Given the description of an element on the screen output the (x, y) to click on. 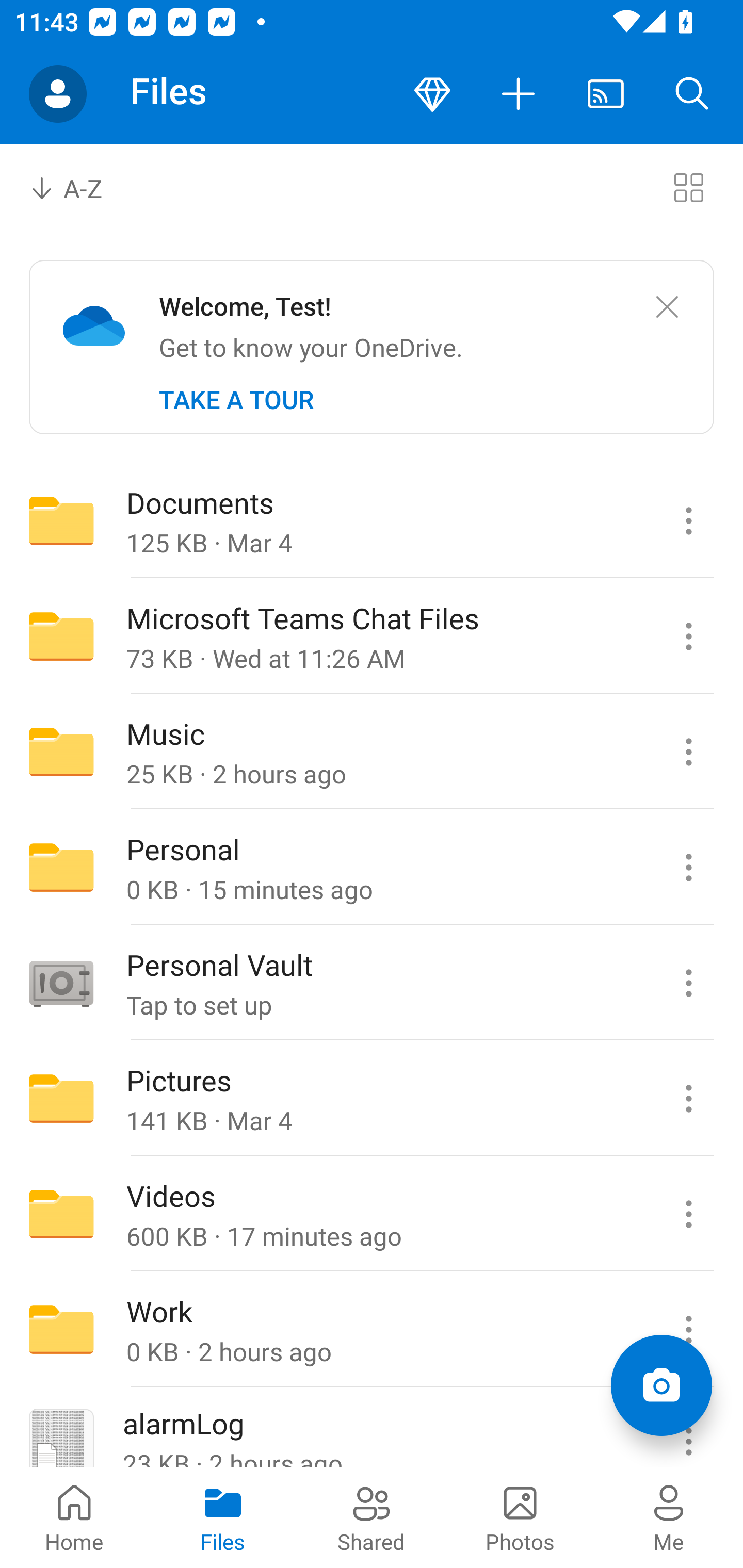
Account switcher (57, 93)
Cast. Disconnected (605, 93)
Premium button (432, 93)
More actions button (518, 93)
Search button (692, 93)
A-Z Sort by combo box, sort by name, A to Z (80, 187)
Switch to tiles view (688, 187)
Close (667, 307)
TAKE A TOUR (236, 399)
Folder Documents 125 KB · Mar 4 Documents commands (371, 520)
Documents commands (688, 520)
Microsoft Teams Chat Files commands (688, 636)
Folder Music 25 KB · 2 hours ago Music commands (371, 751)
Music commands (688, 751)
Personal commands (688, 867)
Personal Vault commands (688, 983)
Folder Pictures 141 KB · Mar 4 Pictures commands (371, 1099)
Pictures commands (688, 1099)
Videos commands (688, 1214)
Folder Work 0 KB · 2 hours ago Work commands (371, 1329)
Work commands (688, 1329)
Add items Scan (660, 1385)
alarmLog commands (688, 1427)
Home pivot Home (74, 1517)
Shared pivot Shared (371, 1517)
Photos pivot Photos (519, 1517)
Me pivot Me (668, 1517)
